Given the description of an element on the screen output the (x, y) to click on. 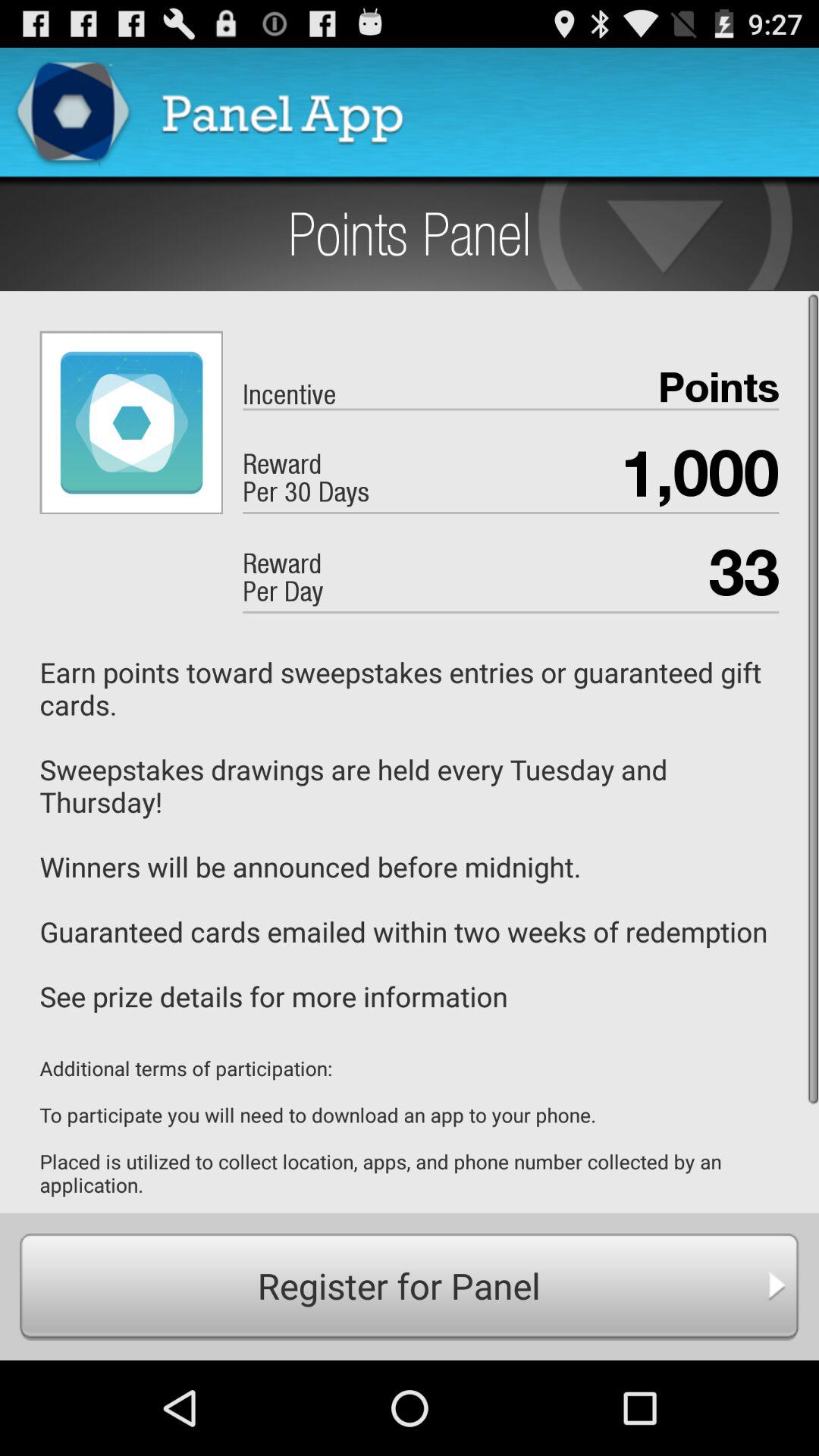
click icon below additional terms of app (409, 1286)
